Given the description of an element on the screen output the (x, y) to click on. 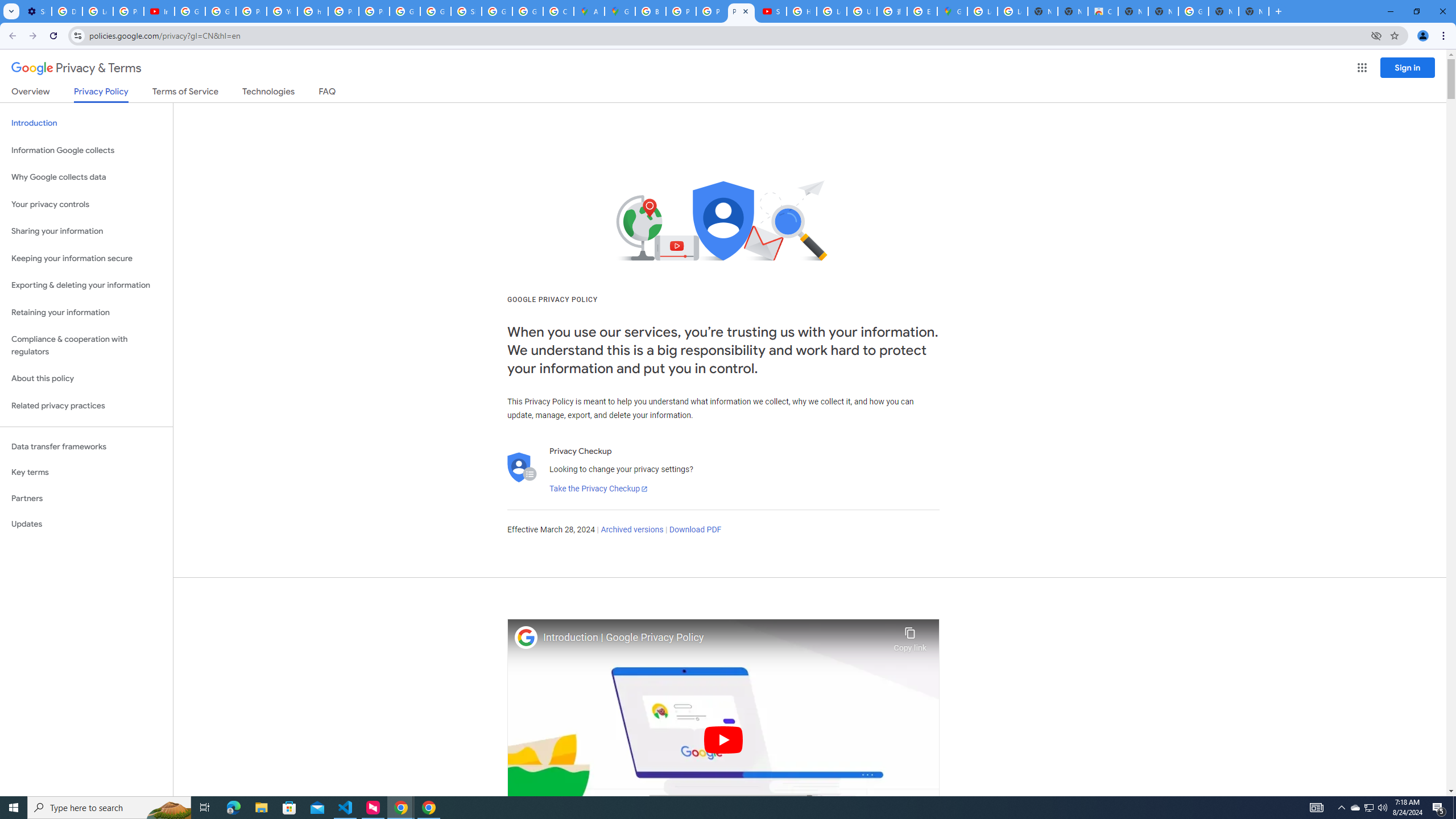
Privacy Help Center - Policies Help (343, 11)
Updates (86, 524)
Copy link (909, 636)
Privacy & Terms (76, 68)
Google Images (1193, 11)
Chrome Web Store (1102, 11)
Blogger Policies and Guidelines - Transparency Center (650, 11)
Why Google collects data (86, 176)
